Given the description of an element on the screen output the (x, y) to click on. 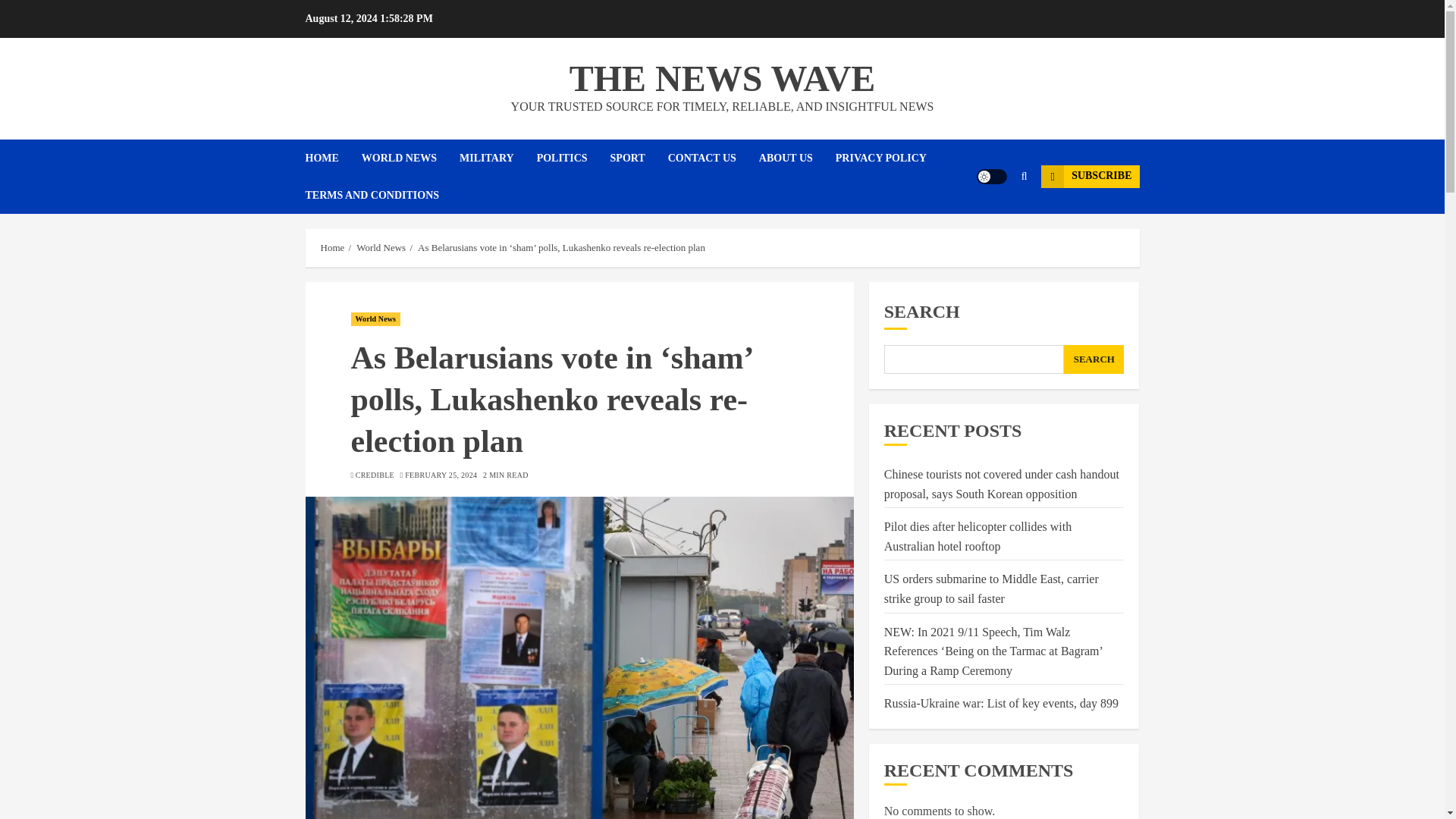
ABOUT US (796, 157)
THE NEWS WAVE (722, 78)
CREDIBLE (374, 475)
TERMS AND CONDITIONS (371, 194)
SPORT (639, 157)
Home (331, 247)
World News (381, 247)
World News (375, 318)
SEARCH (1094, 358)
